Given the description of an element on the screen output the (x, y) to click on. 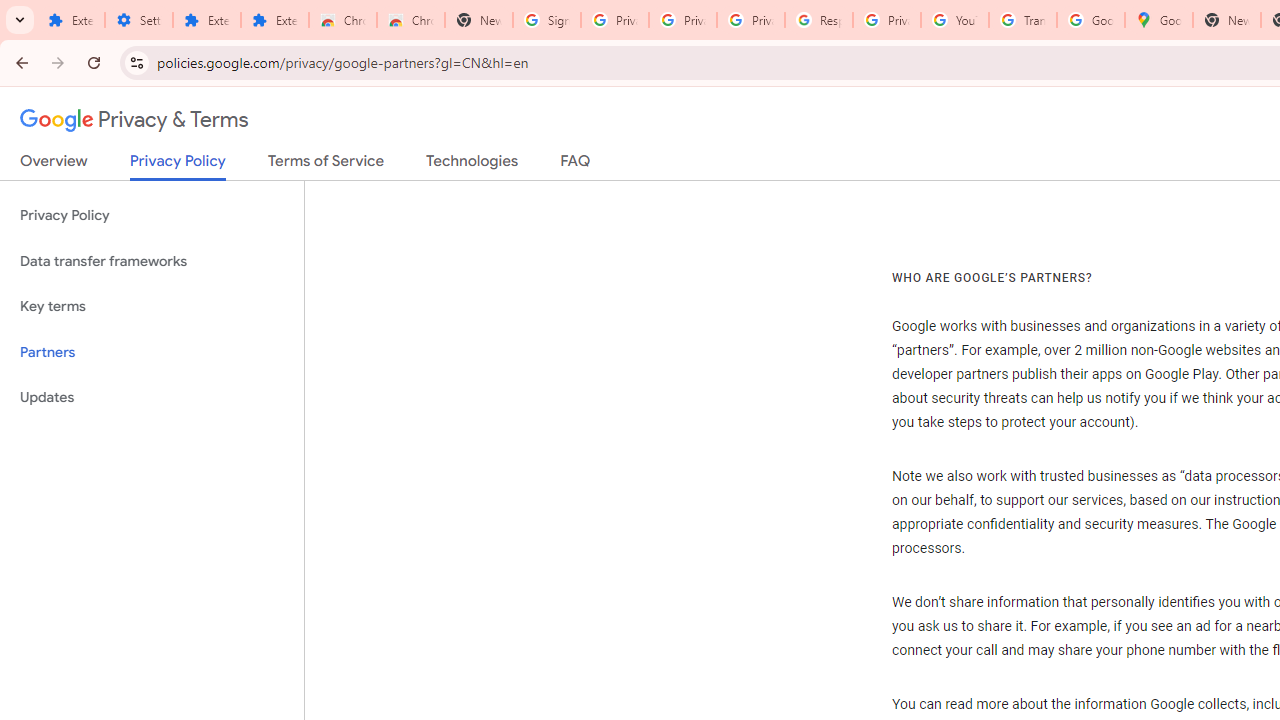
Extensions (206, 20)
New Tab (479, 20)
Extensions (274, 20)
Chrome Web Store - Themes (411, 20)
Extensions (70, 20)
